Given the description of an element on the screen output the (x, y) to click on. 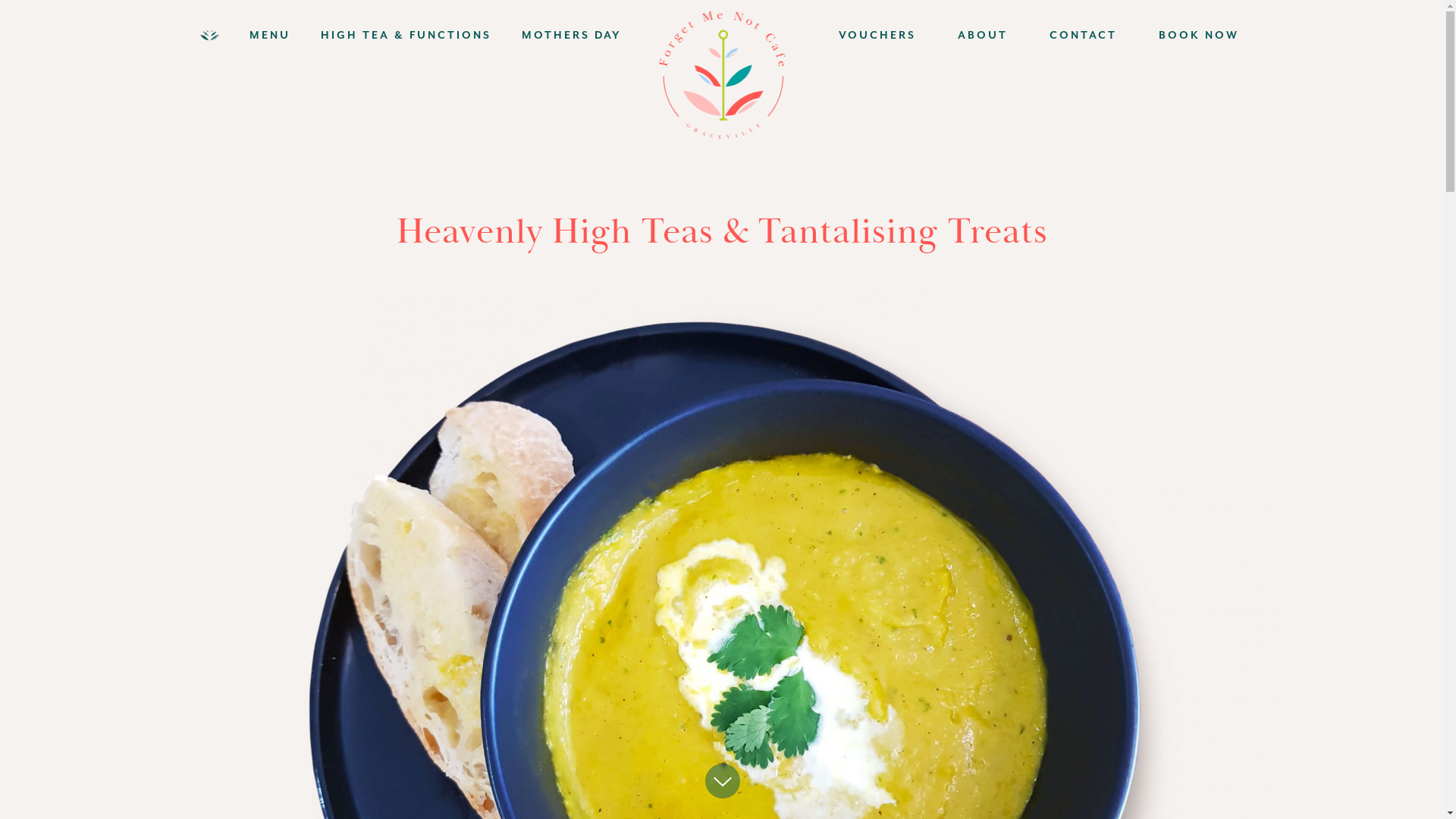
BOOK NOW Element type: text (1178, 35)
HIGH TEA & FUNCTIONS Element type: text (420, 35)
ABOUT Element type: text (961, 35)
CONTACT Element type: text (1062, 35)
MOTHERS DAY Element type: text (586, 35)
MENU Element type: text (284, 35)
VOUCHERS Element type: text (856, 35)
